Given the description of an element on the screen output the (x, y) to click on. 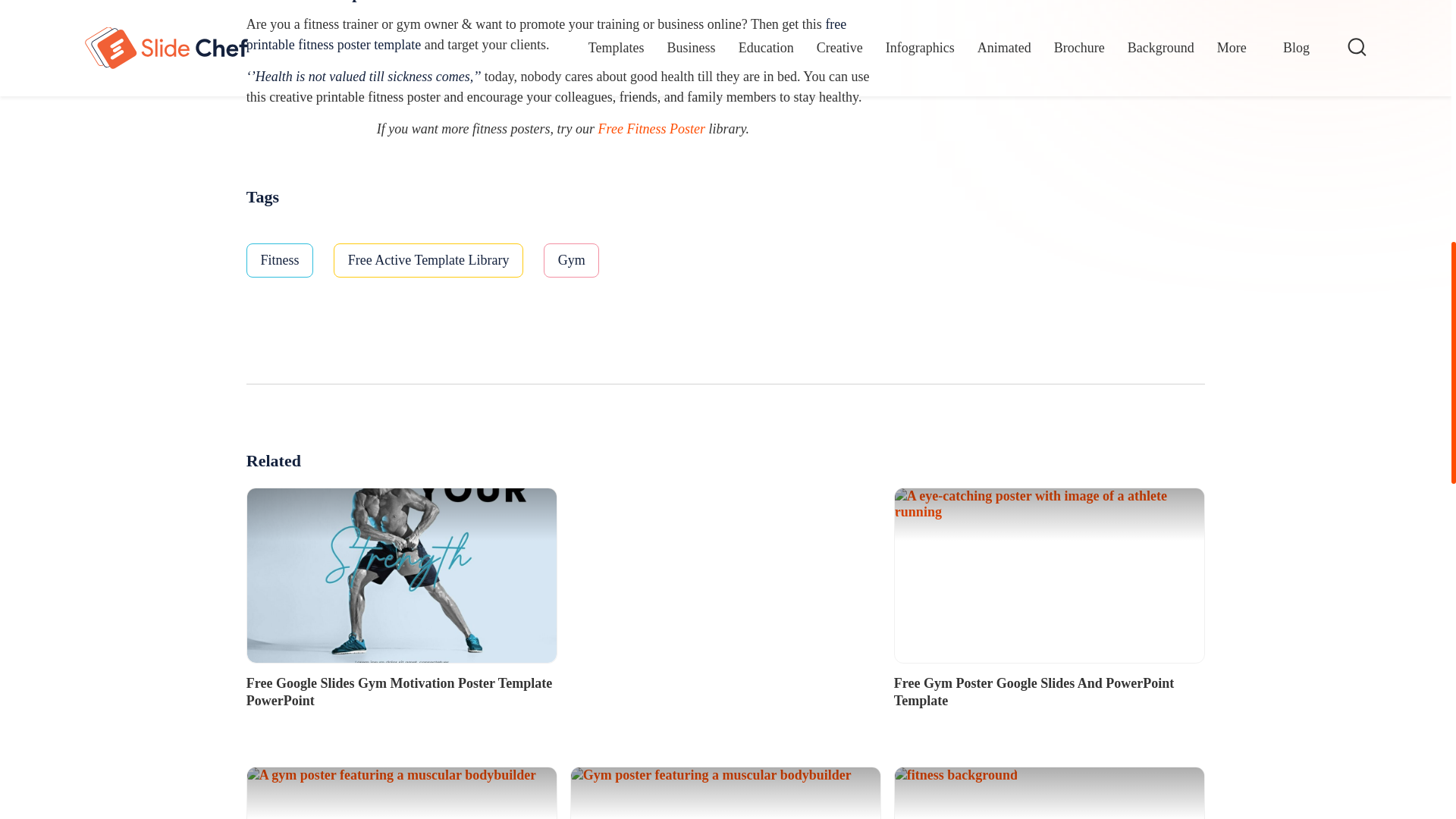
Advertisement (1021, 127)
Free Fitness Background PowerPoint And Google Slides (1048, 792)
Free Gym Poster Google Slides and PowerPoint Template (1048, 575)
Free Google Slides Gym Motivation Poster Template PowerPoint (401, 575)
